Given the description of an element on the screen output the (x, y) to click on. 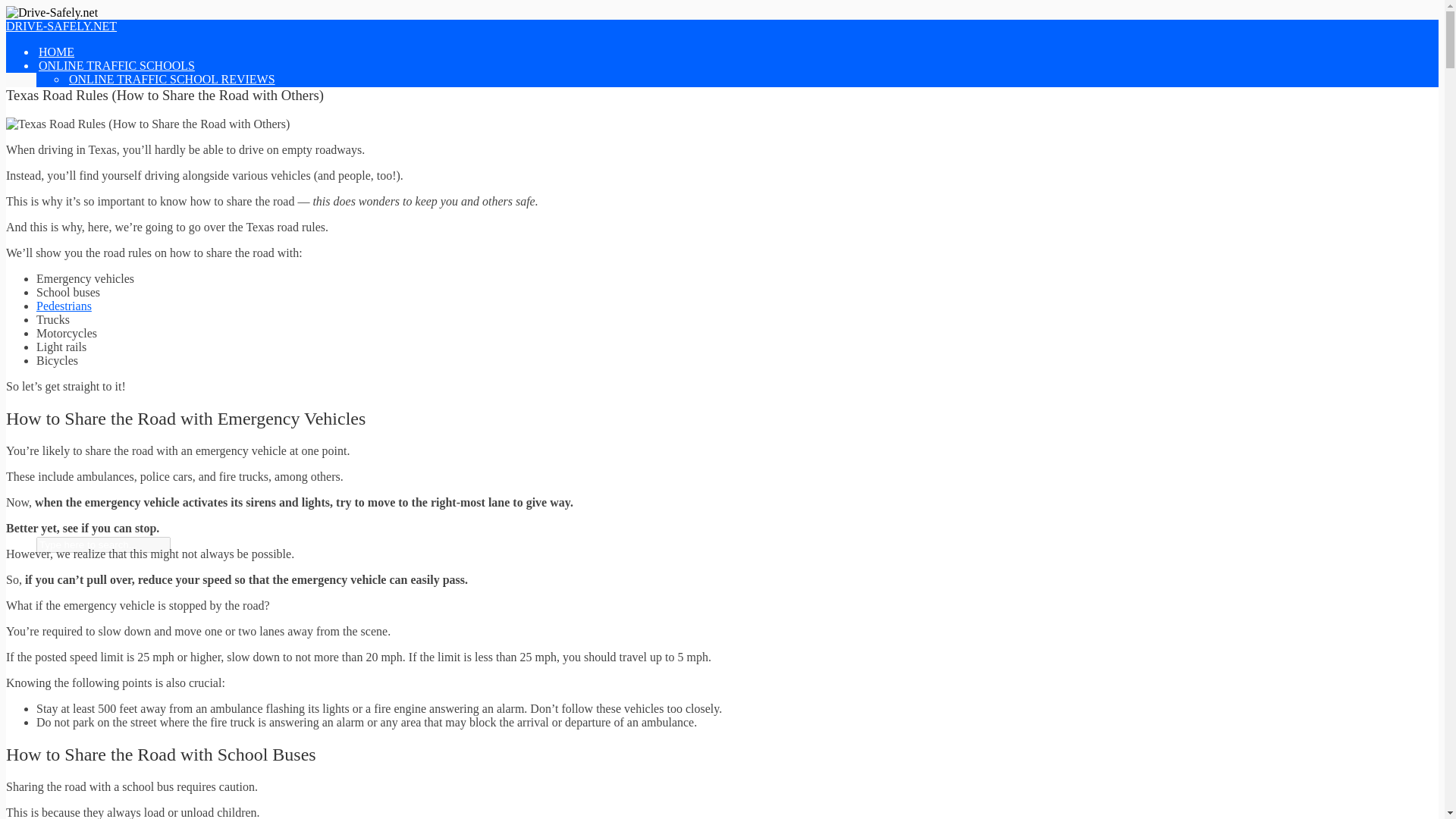
ONLINE ADULT DRIVERS ED REVIEWS (177, 174)
HOW TO FIGHT A TRAFFIC TICKET (166, 325)
Homeschool Drivers Ed Courses (176, 188)
TEEN DRIVING TIPS (125, 256)
ONLINE TRAFFIC SCHOOLS (116, 65)
DEFENSIVE DRIVING (129, 229)
Drive-Safely.net (60, 25)
ONLINE DRIVERS ED REVIEWS (156, 161)
EASIEST ONLINE TRAFFIC SCHOOLS (172, 92)
TIPS FOR AVOIDING TICKETS (151, 297)
BLOG (55, 366)
Online Traffic Schools By State (175, 120)
ONLINE DRIVERS ED (98, 147)
DRIVER EDUCATION (127, 407)
DRIVE-SAFELY.NET (60, 25)
